Given the description of an element on the screen output the (x, y) to click on. 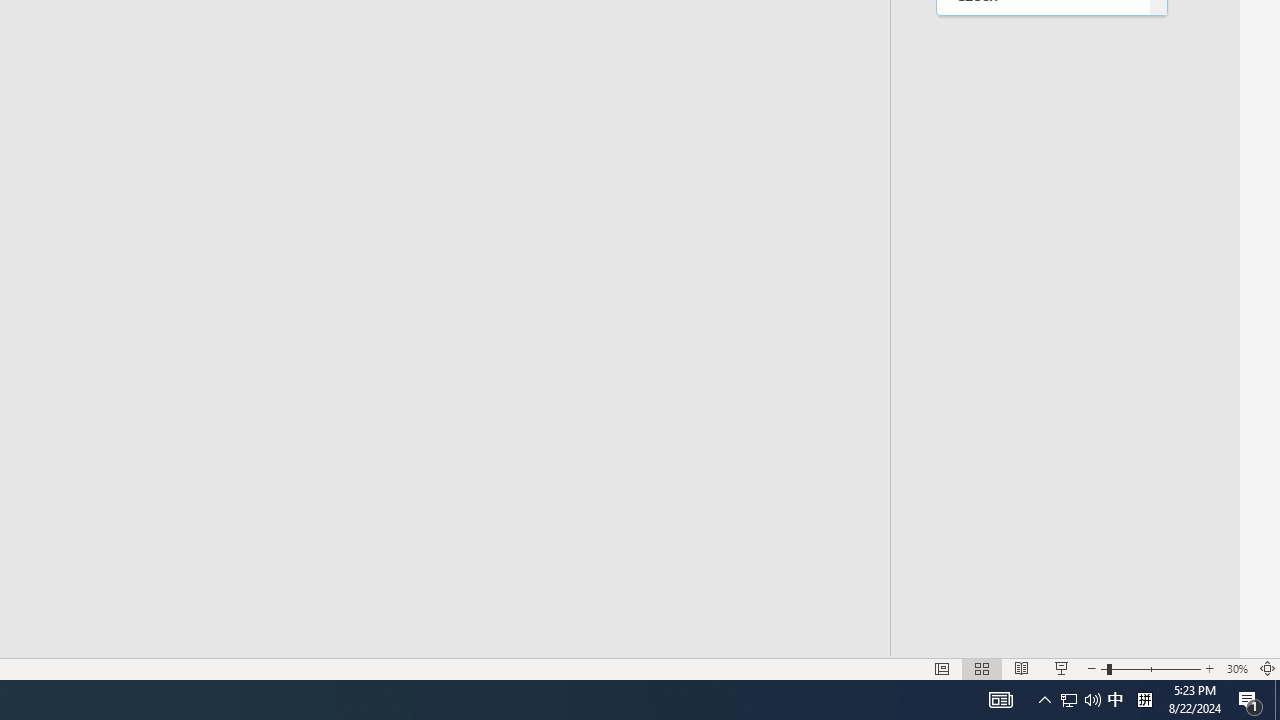
Dari (1042, 74)
French (Canada) (1042, 526)
Georgian (1042, 649)
Finnish (1042, 444)
Divehi (1042, 115)
Danish (1042, 34)
Zoom 30% (1236, 668)
